Given the description of an element on the screen output the (x, y) to click on. 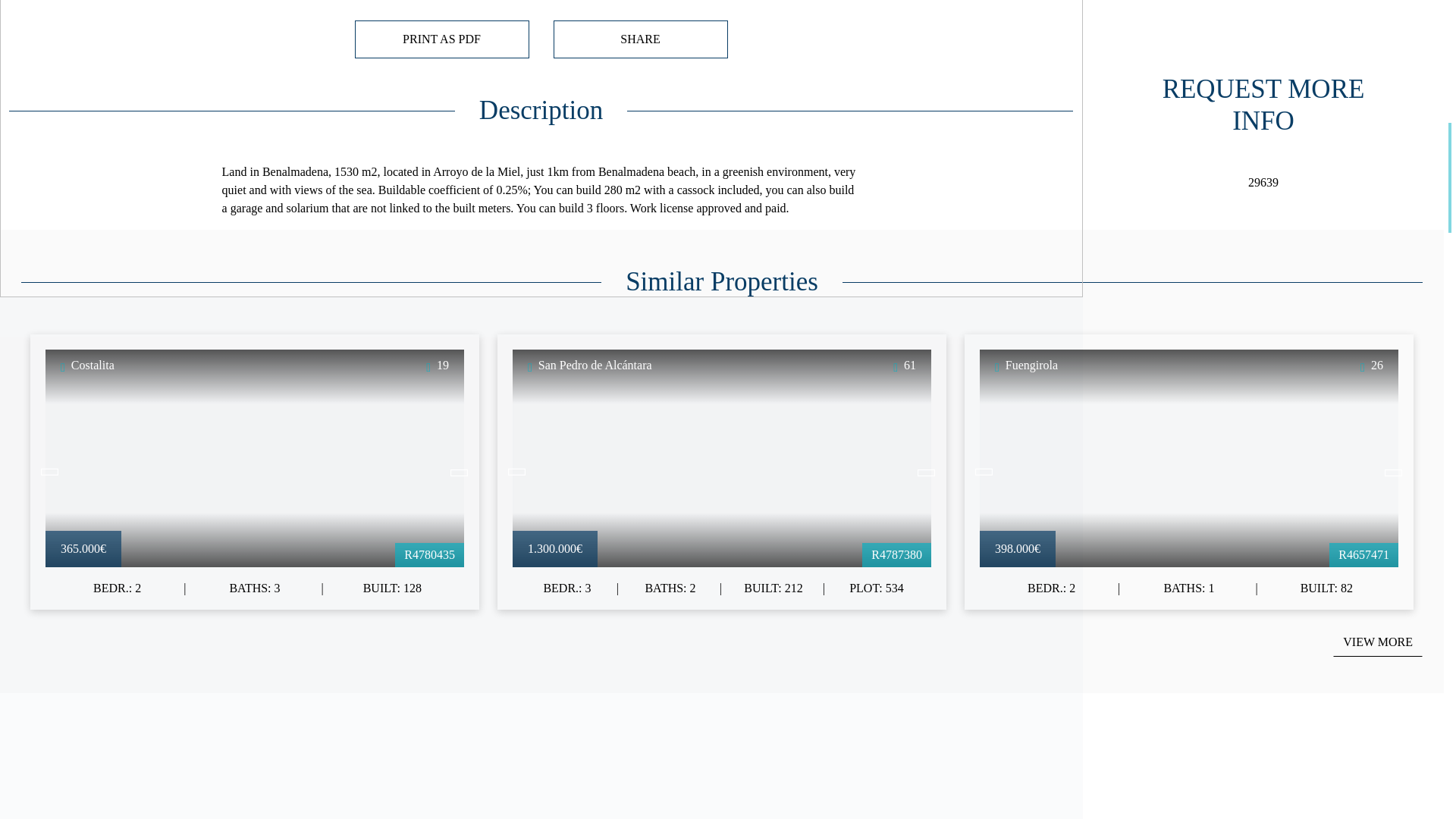
SHARE (640, 39)
PRINT AS PDF (442, 39)
VIEW MORE (1377, 642)
